Given the description of an element on the screen output the (x, y) to click on. 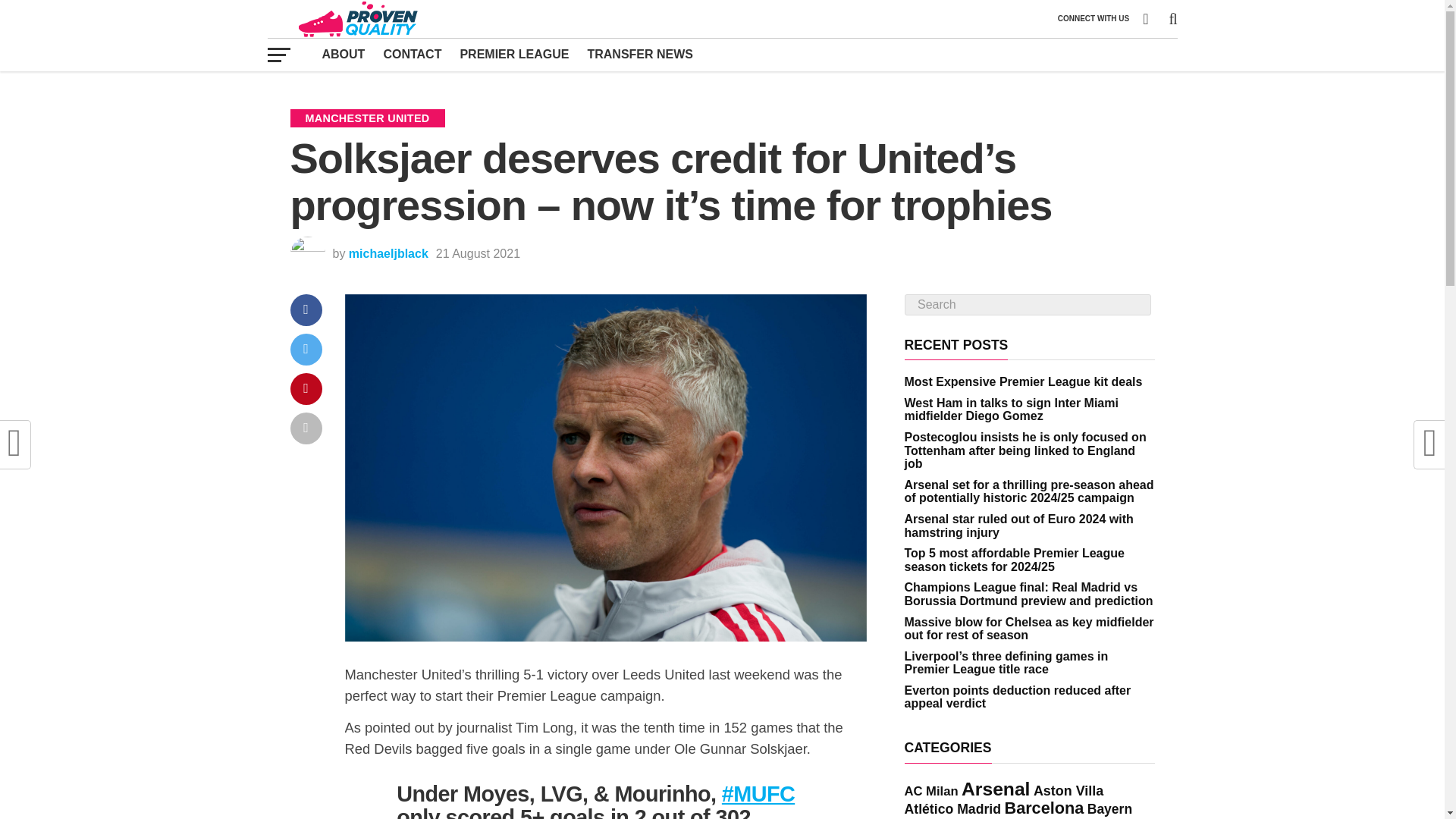
PREMIER LEAGUE (513, 54)
Arsenal star ruled out of Euro 2024 with hamstring injury (1018, 525)
ABOUT (343, 54)
CONTACT (411, 54)
TRANSFER NEWS (639, 54)
Posts by michaeljblack (388, 253)
